Given the description of an element on the screen output the (x, y) to click on. 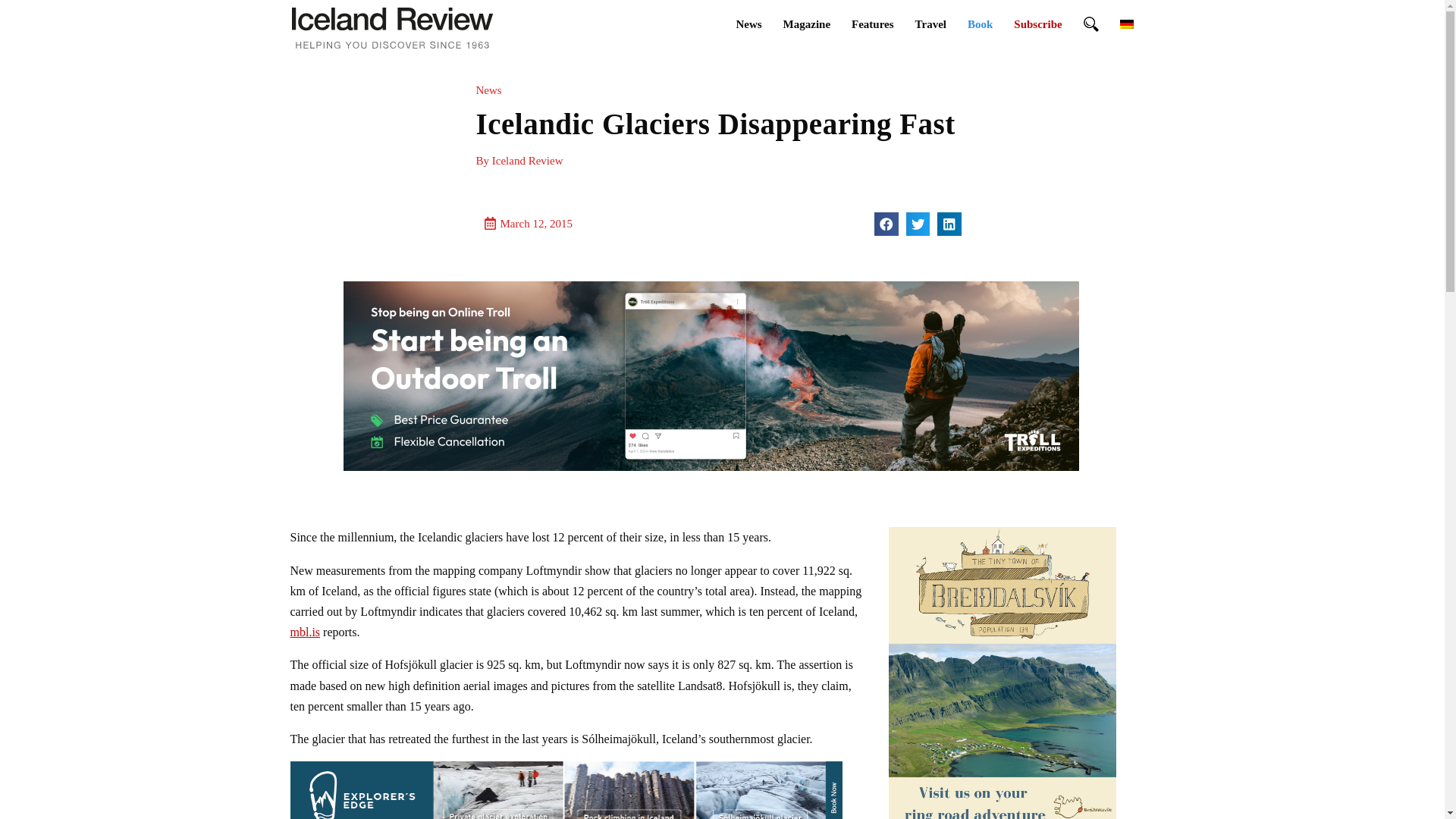
Subscribe (1037, 23)
Magazine (807, 23)
News (748, 23)
Travel (930, 23)
Features (872, 23)
Book (979, 23)
